Given the description of an element on the screen output the (x, y) to click on. 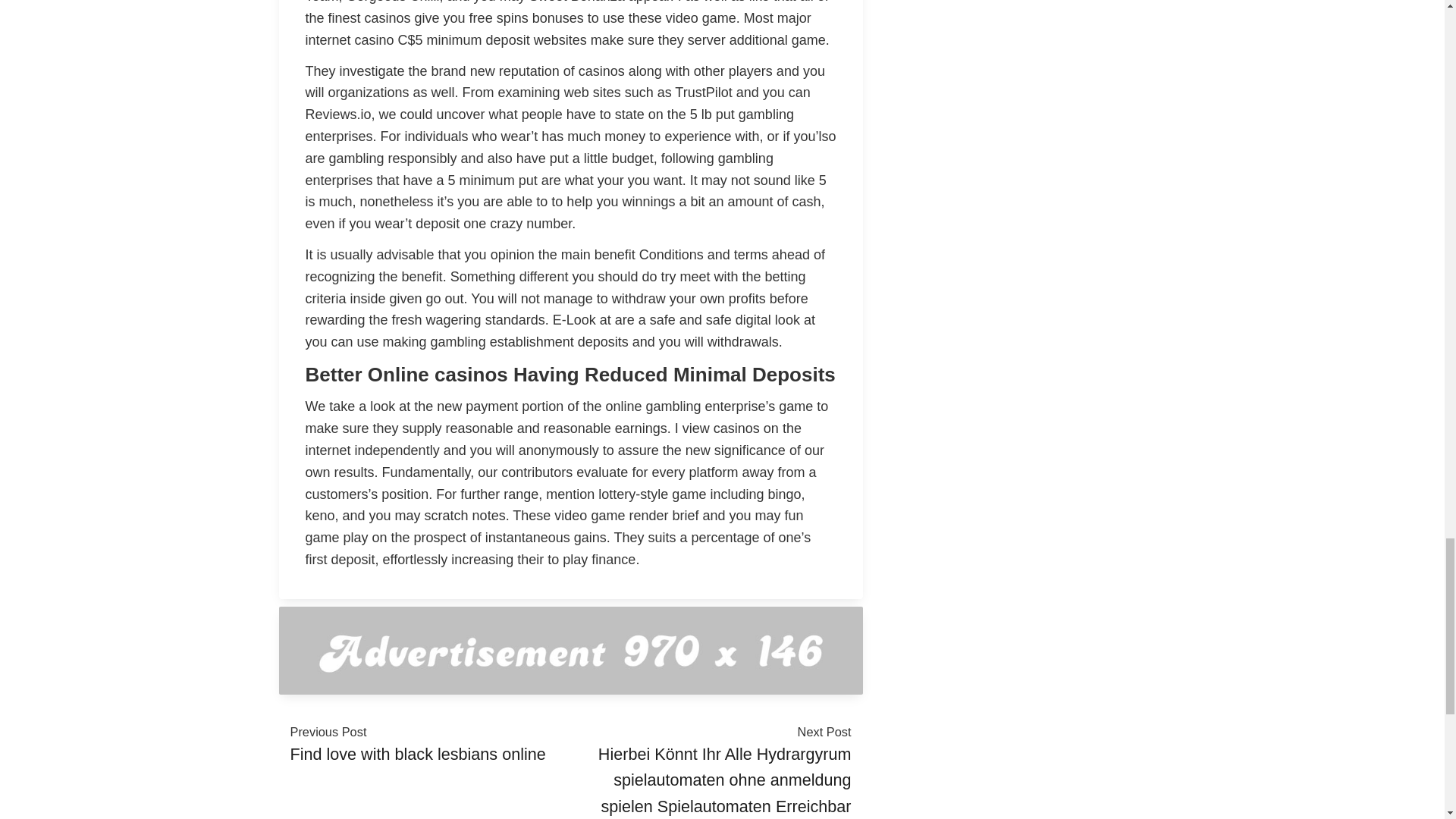
Find love with black lesbians online (416, 753)
